Given the description of an element on the screen output the (x, y) to click on. 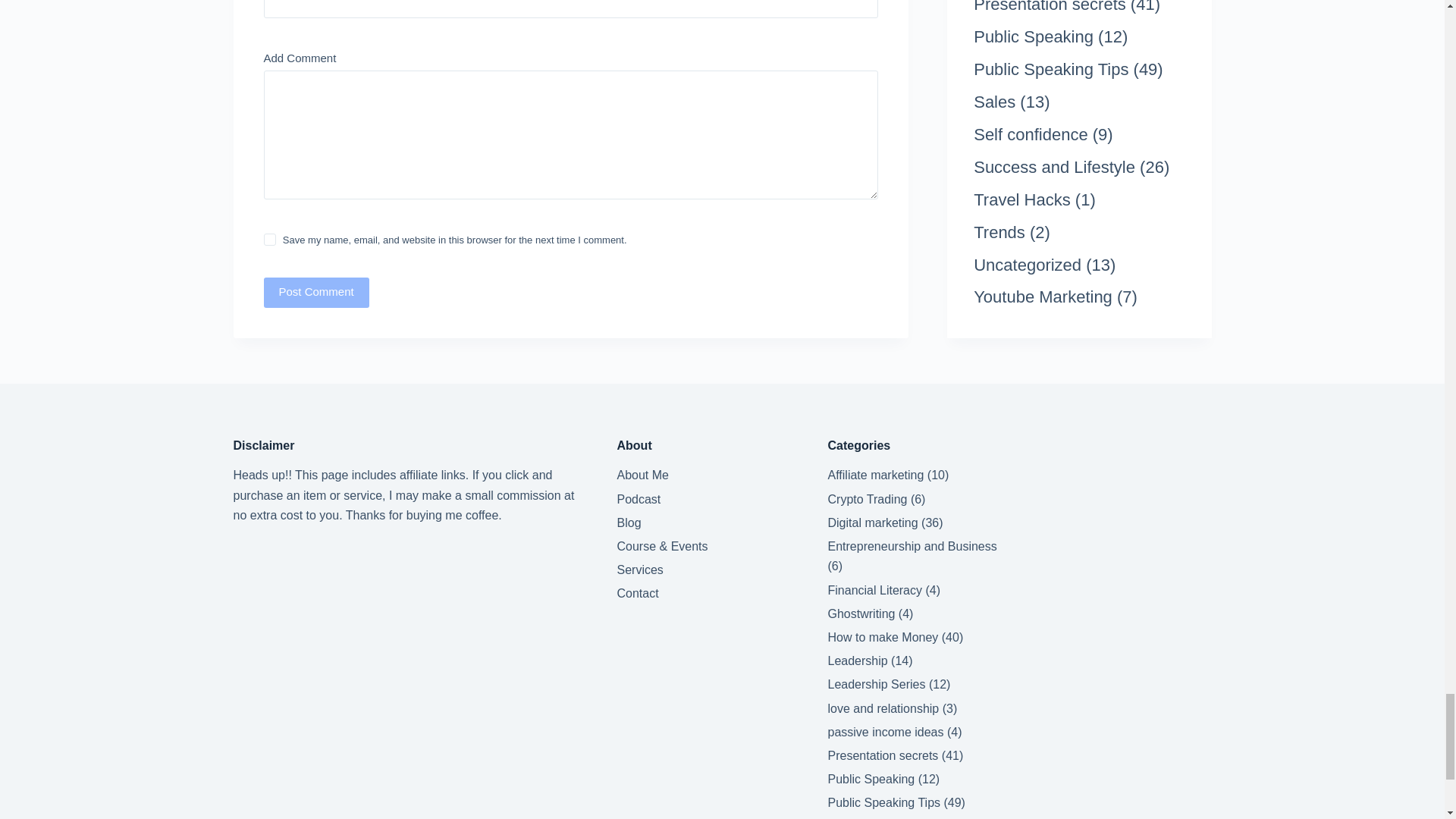
yes (269, 239)
